Given the description of an element on the screen output the (x, y) to click on. 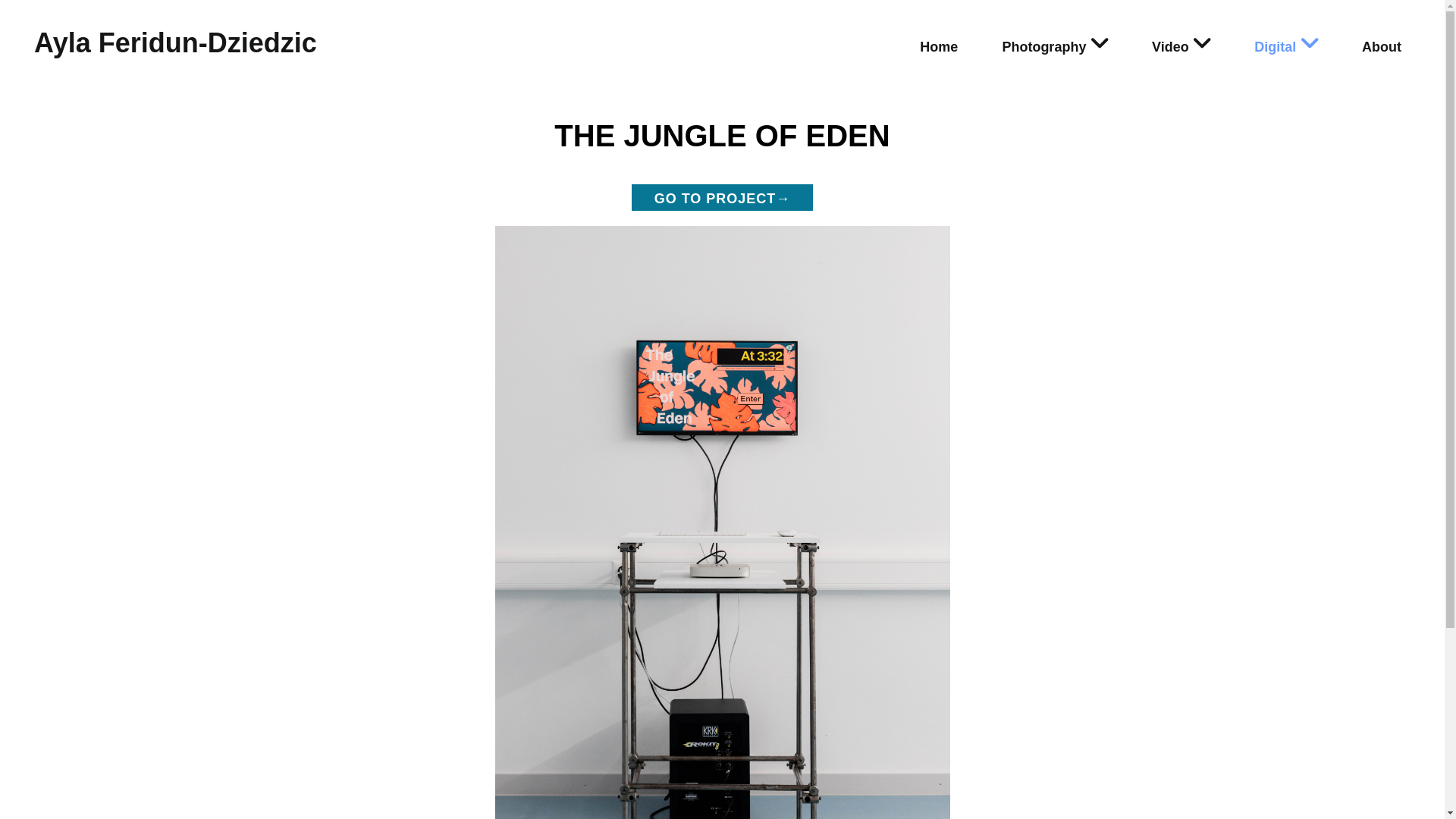
About Element type: text (1381, 46)
Ayla Feridun-Dziedzic Element type: text (175, 42)
Home Element type: text (938, 46)
